Given the description of an element on the screen output the (x, y) to click on. 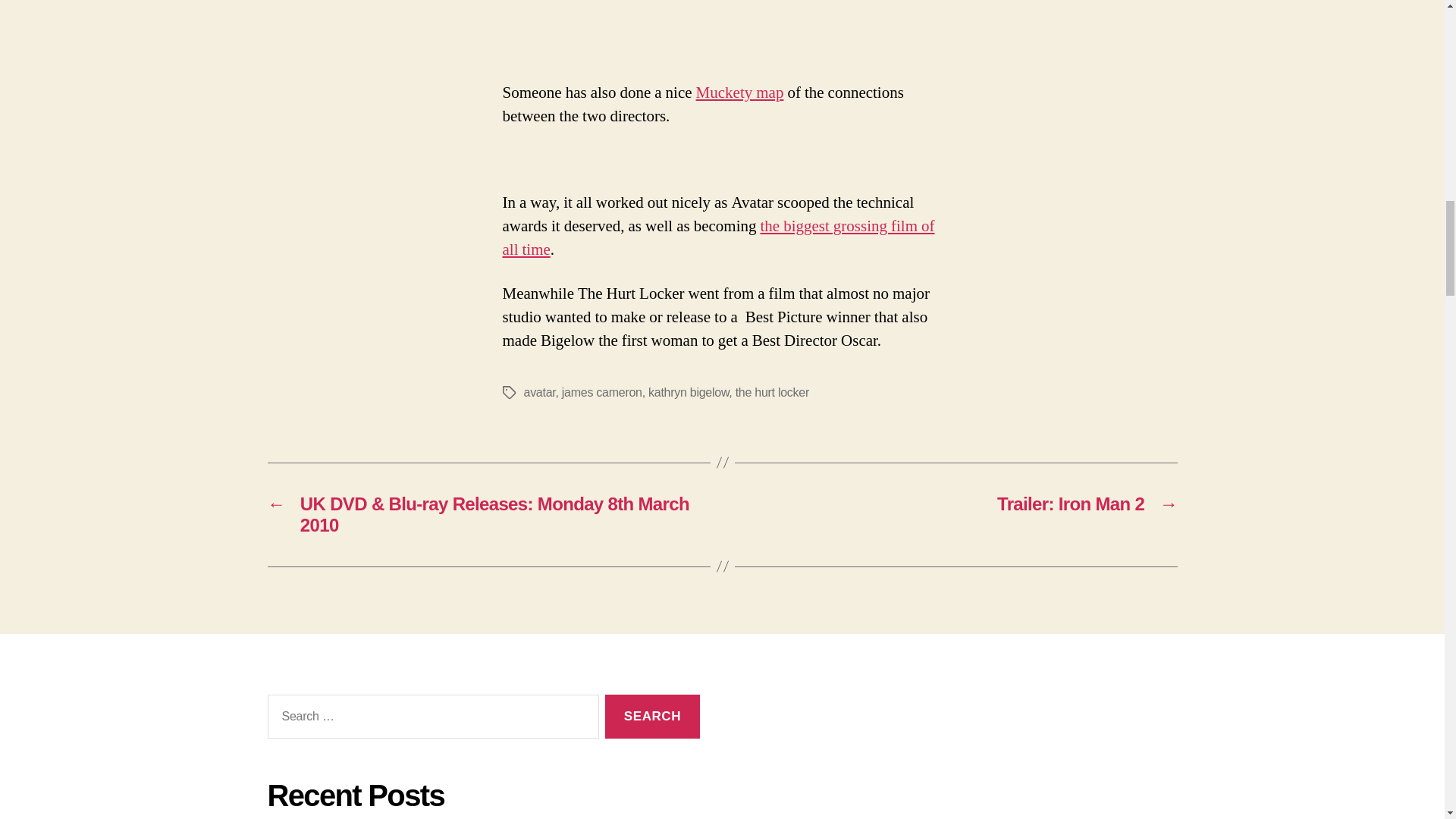
the biggest grossing film of all time (718, 238)
james cameron (602, 391)
Search (651, 716)
Muckety map (739, 92)
kathryn bigelow (688, 391)
Search (651, 716)
the hurt locker (772, 391)
Search (651, 716)
avatar (538, 391)
